Given the description of an element on the screen output the (x, y) to click on. 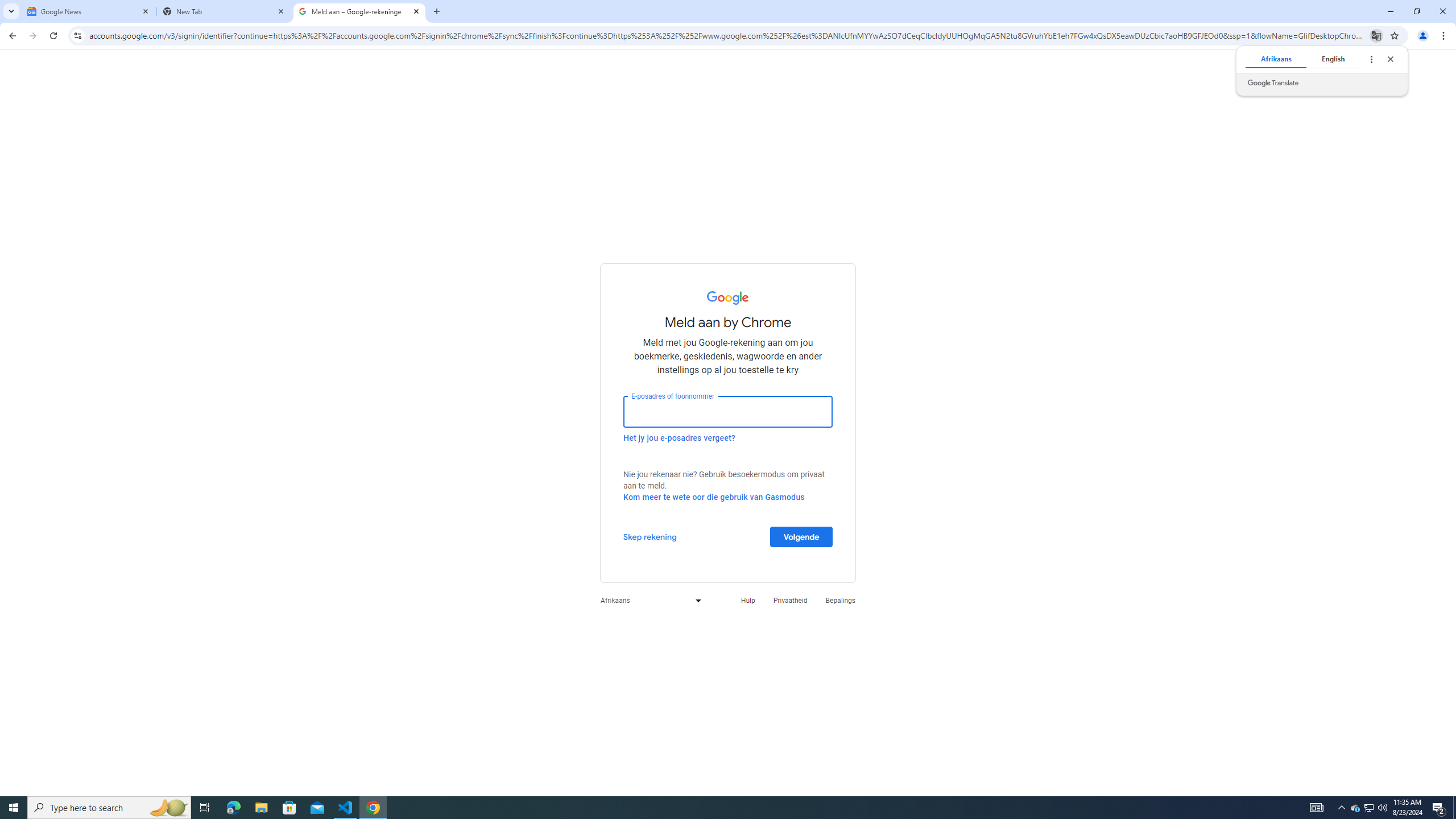
Volgende (801, 536)
